Given the description of an element on the screen output the (x, y) to click on. 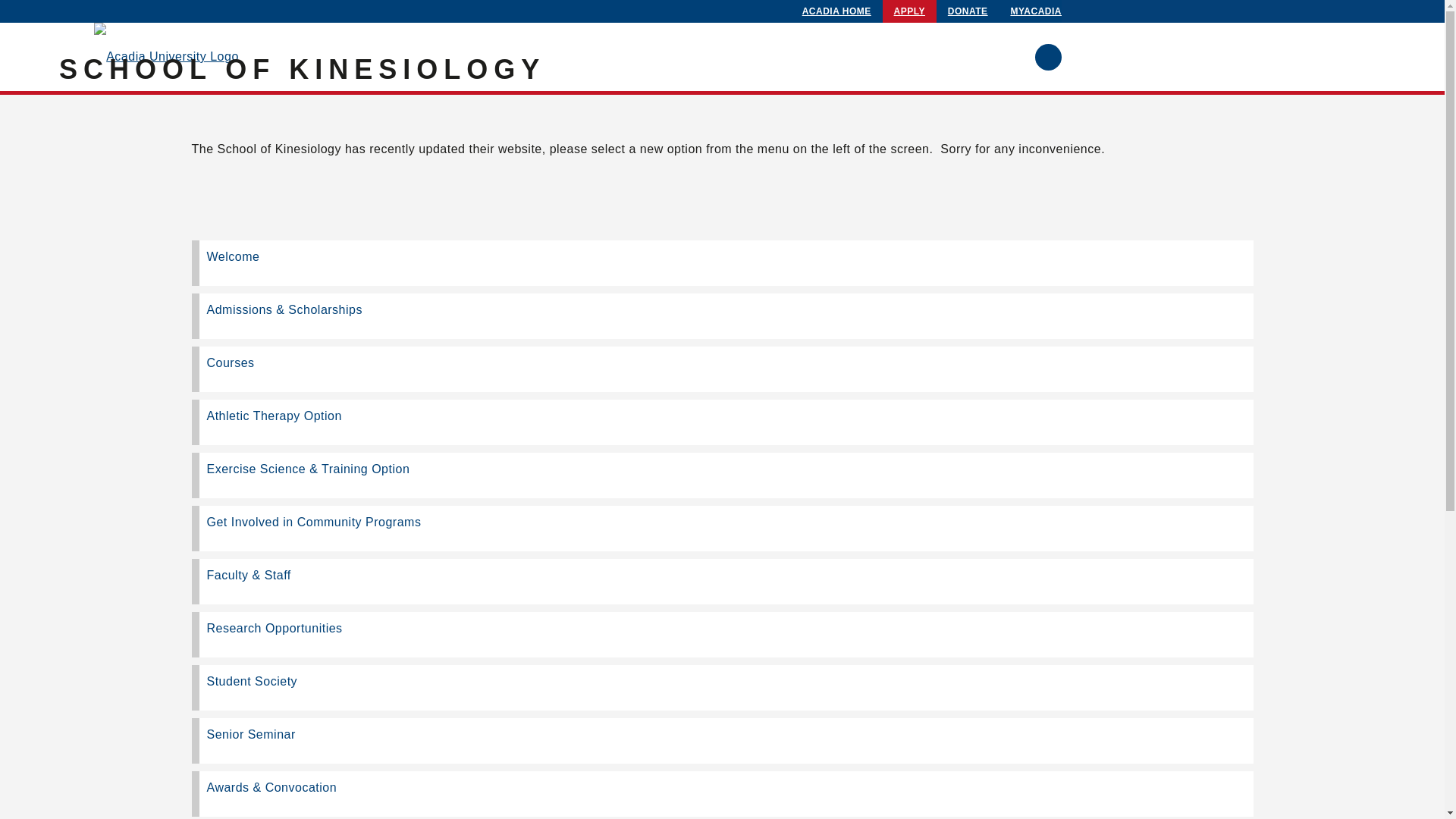
SCHOOL OF KINESIOLOGY Element type: text (302, 68)
Awards & Convocation Element type: text (721, 793)
DONATE Element type: text (967, 11)
Student Society Element type: text (721, 687)
Research Opportunities Element type: text (721, 634)
Courses Element type: text (721, 369)
Welcome Element type: text (721, 262)
Admissions & Scholarships Element type: text (721, 315)
Senior Seminar Element type: text (721, 740)
Athletic Therapy Option Element type: text (721, 422)
ACADIA HOME Element type: text (836, 11)
MYACADIA Element type: text (1035, 11)
Exercise Science & Training Option Element type: text (721, 475)
Faculty & Staff Element type: text (721, 581)
Get Involved in Community Programs Element type: text (721, 528)
APPLY Element type: text (909, 11)
